Given the description of an element on the screen output the (x, y) to click on. 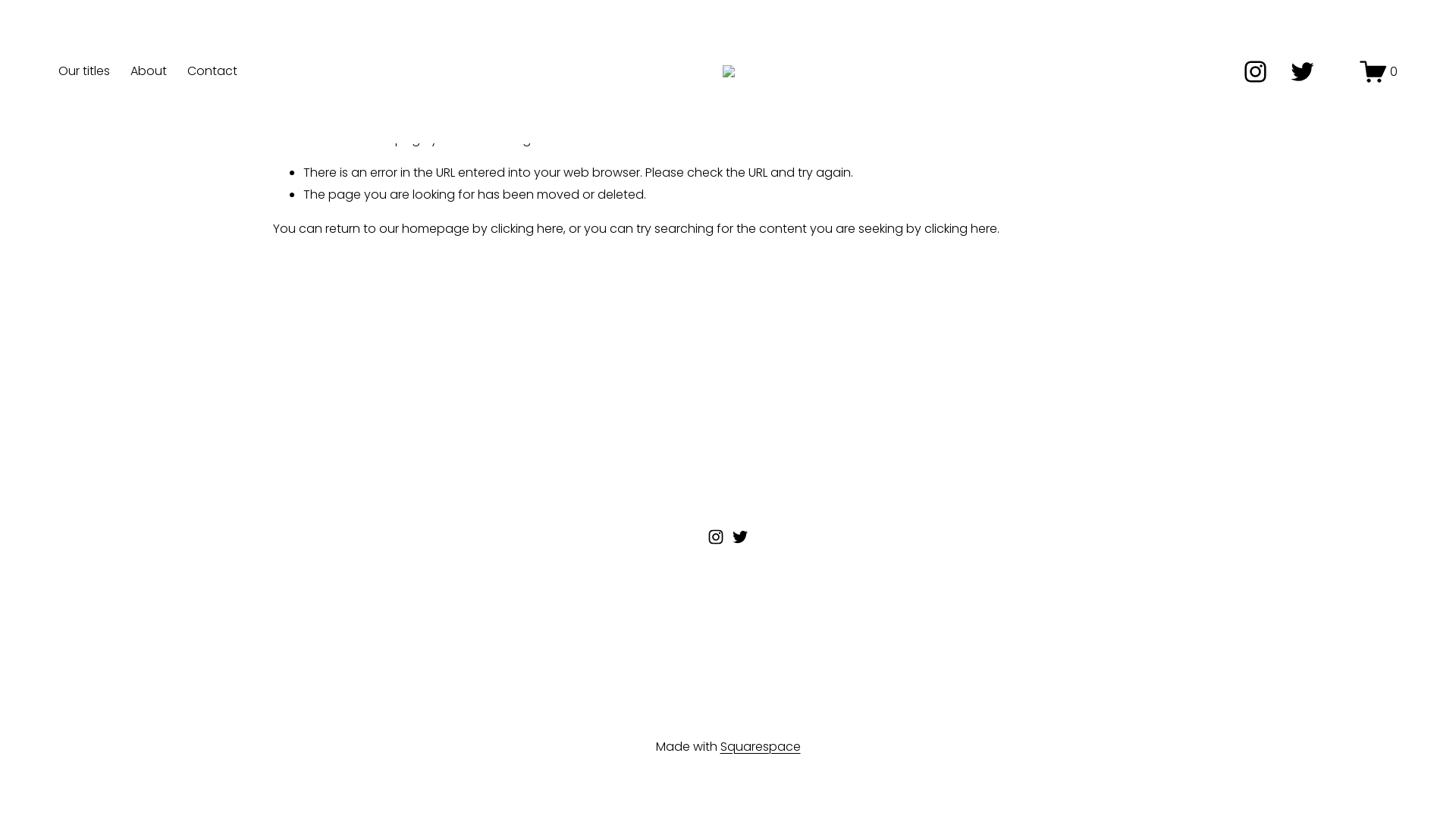
0 Element type: text (1378, 71)
clicking here Element type: text (526, 228)
Contact Element type: text (212, 71)
Sign Up Element type: text (877, 667)
About Element type: text (148, 71)
clicking here Element type: text (960, 228)
Squarespace Element type: text (760, 747)
Our titles Element type: text (83, 71)
